Given the description of an element on the screen output the (x, y) to click on. 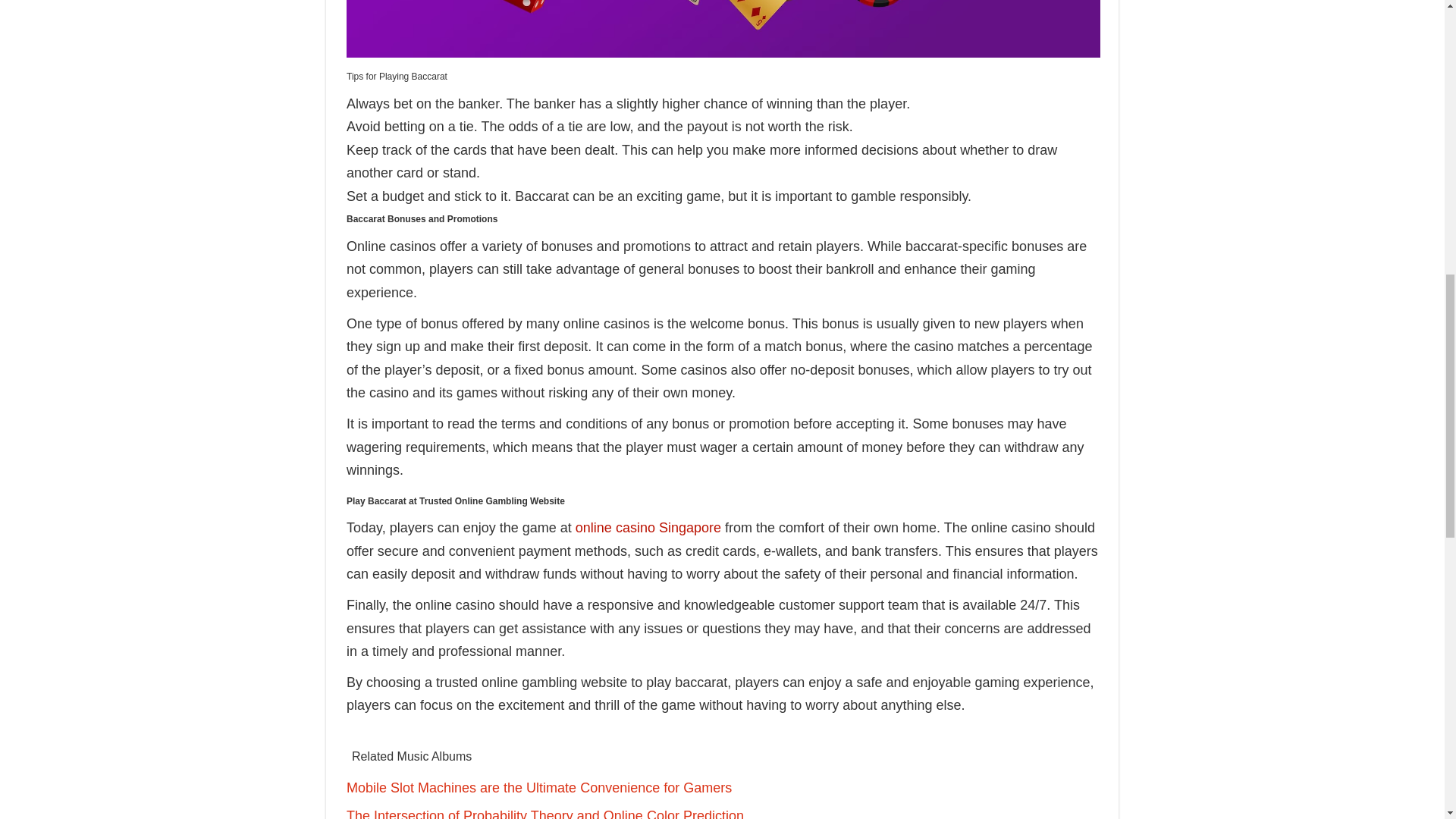
Mobile Slot Machines are the Ultimate Convenience for Gamers (539, 787)
online casino Singapore (647, 527)
Mobile Slot Machines are the Ultimate Convenience for Gamers (539, 787)
